Given the description of an element on the screen output the (x, y) to click on. 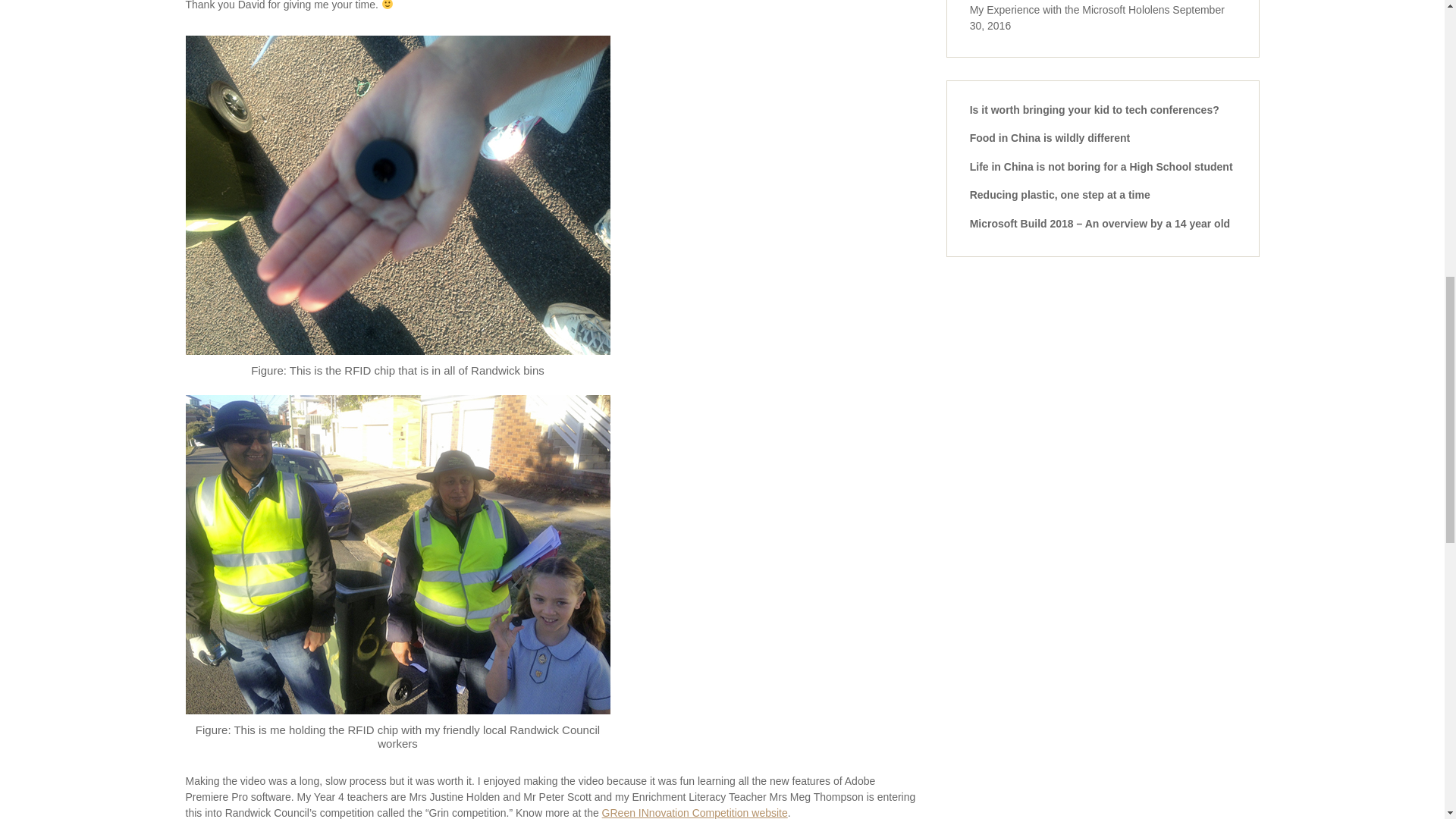
GReen INnovation Competition website (694, 812)
